Given the description of an element on the screen output the (x, y) to click on. 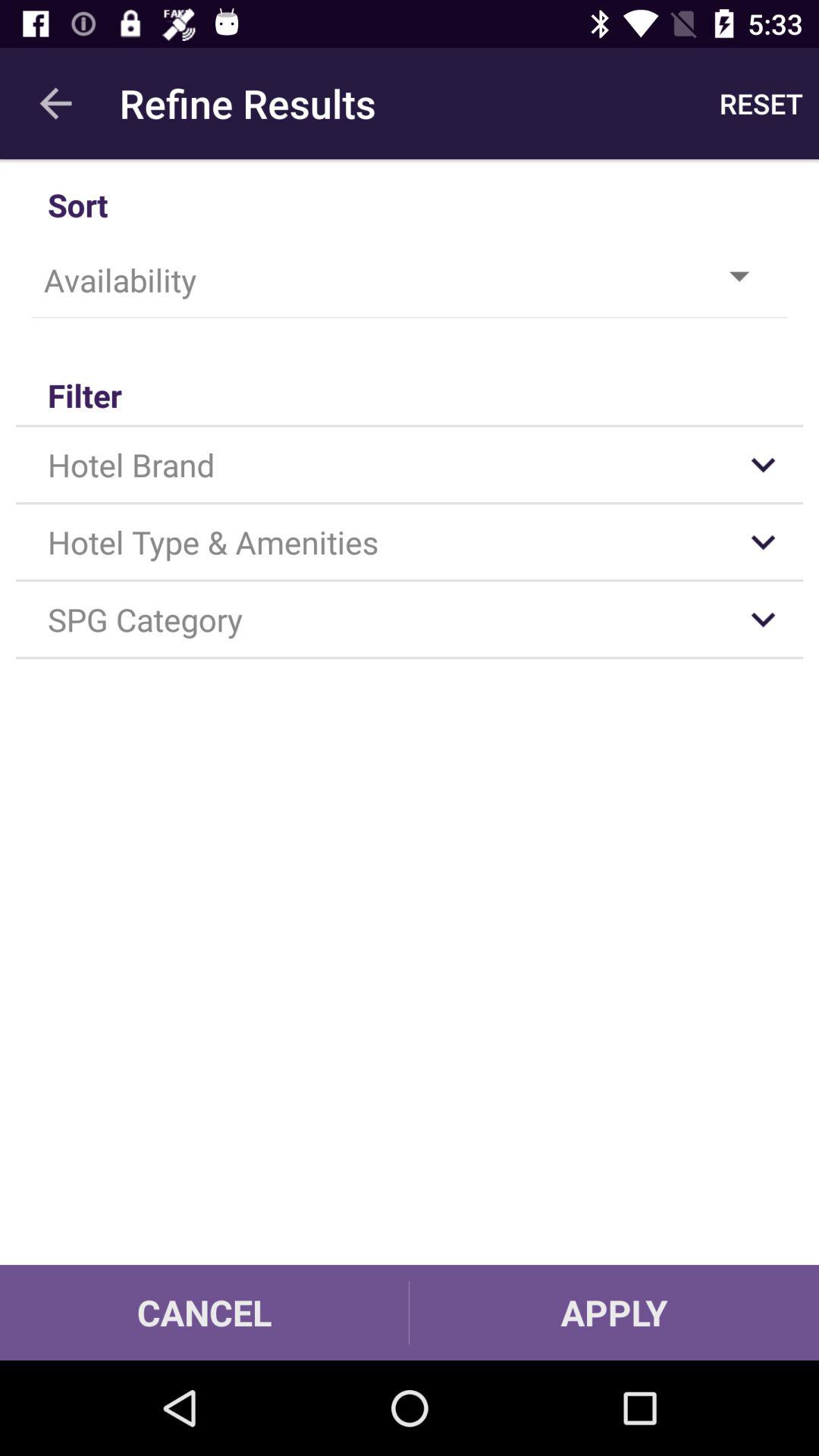
press app next to the refine results item (761, 103)
